Given the description of an element on the screen output the (x, y) to click on. 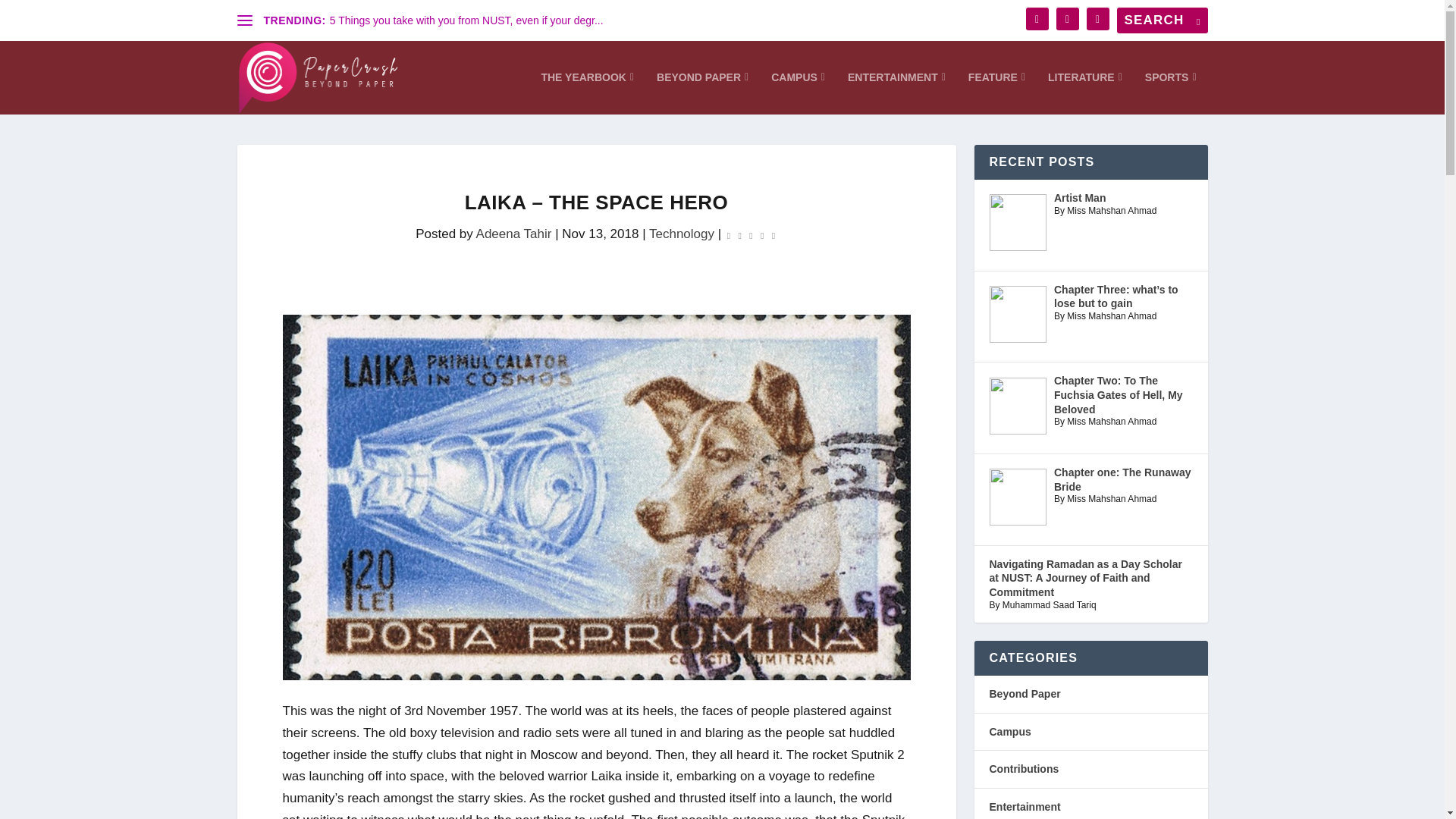
BEYOND PAPER (702, 93)
THE YEARBOOK (586, 93)
Search for: (1161, 20)
5 Things you take with you from NUST, even if your degr... (467, 20)
RECENT (1034, 119)
